Given the description of an element on the screen output the (x, y) to click on. 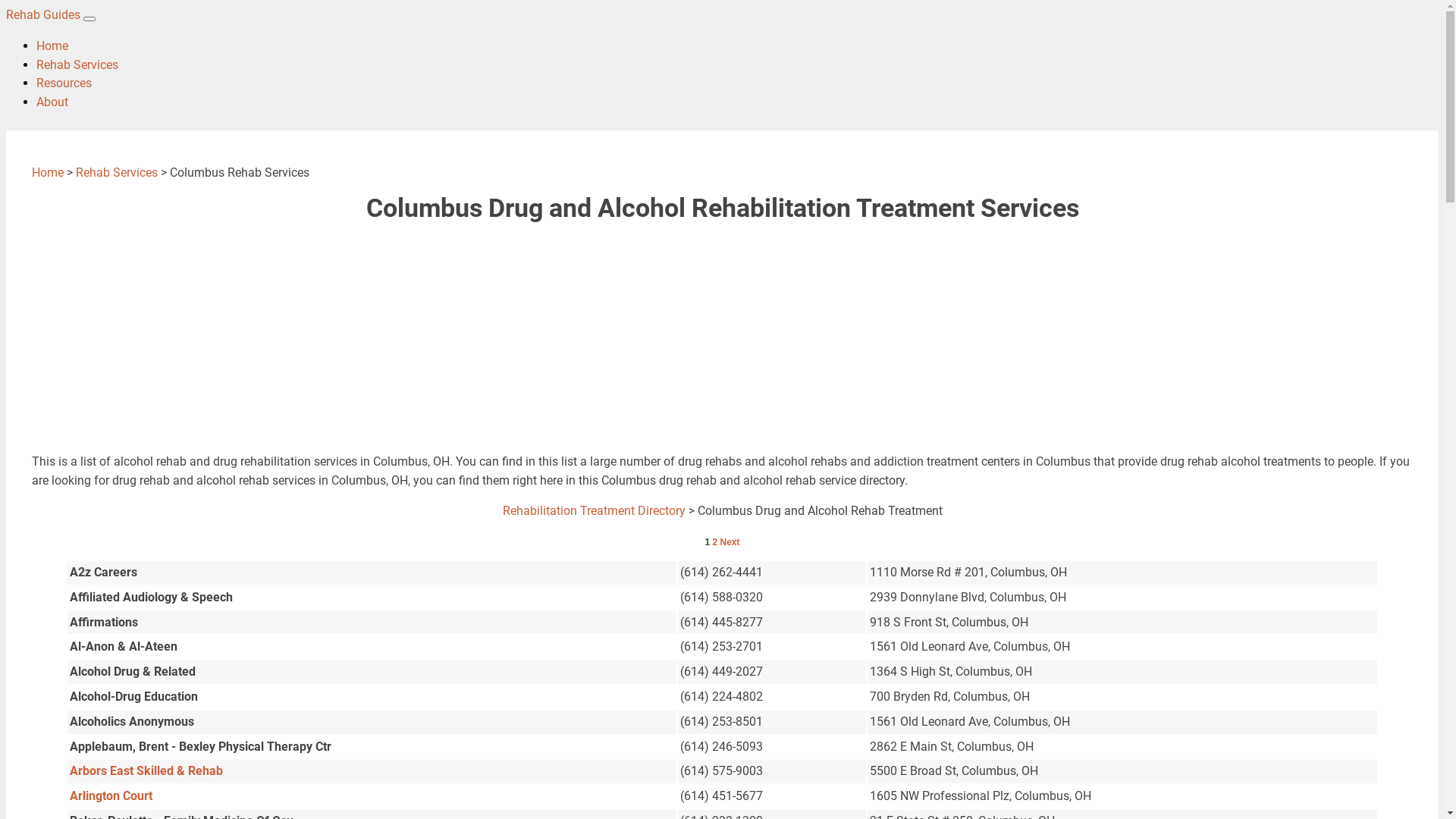
2 Element type: text (714, 541)
Resources Element type: text (63, 82)
Rehab Guides Element type: text (44, 14)
Home Element type: text (47, 172)
About Element type: text (52, 101)
Rehabilitation Treatment Directory Element type: text (593, 510)
Home Element type: text (52, 45)
Advertisement Element type: hover (486, 334)
Rehab Services Element type: text (77, 64)
Arbors East Skilled & Rehab Element type: text (145, 770)
Next Element type: text (730, 541)
Arlington Court Element type: text (110, 795)
Rehab Services Element type: text (116, 172)
